Given the description of an element on the screen output the (x, y) to click on. 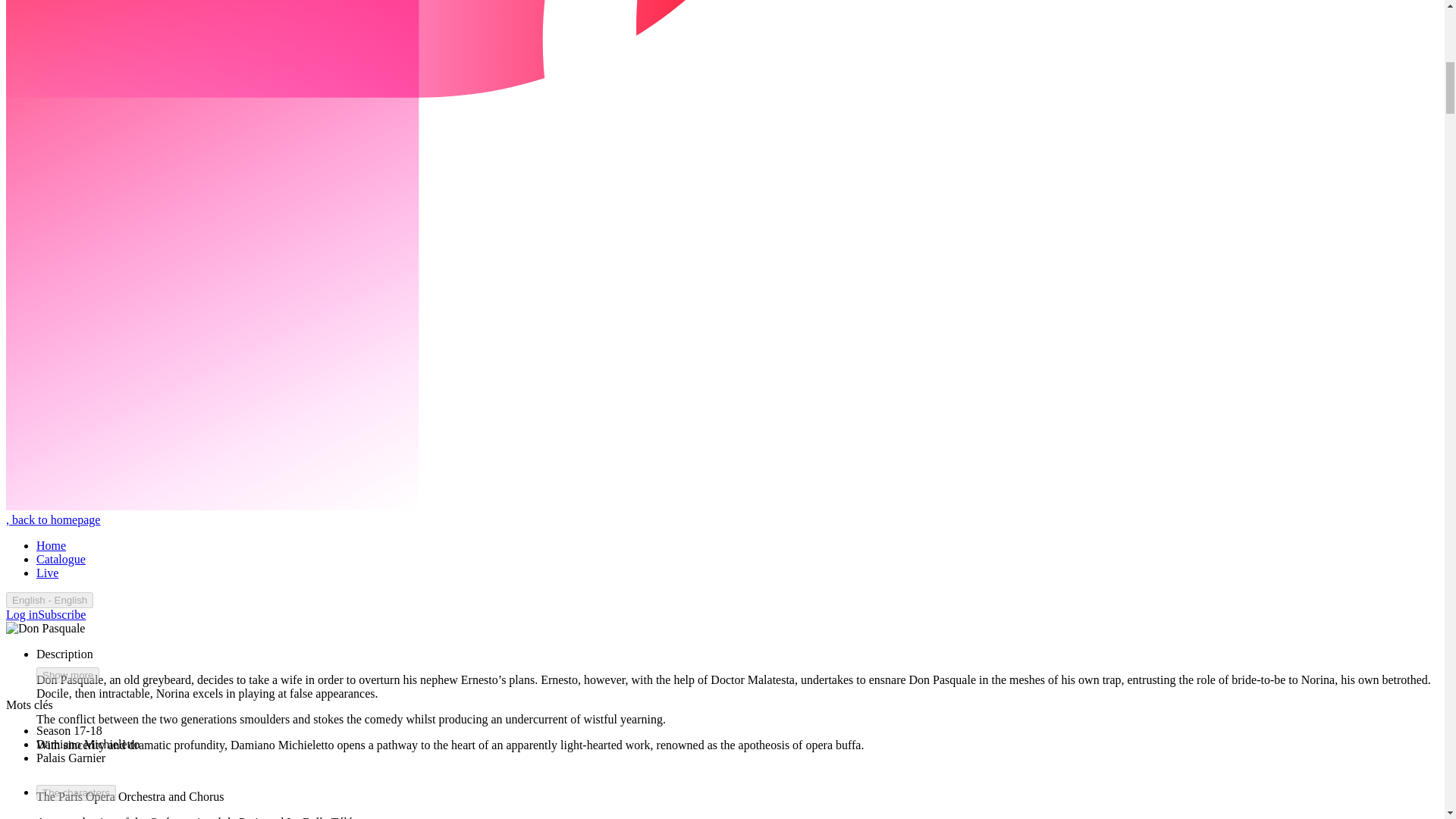
Live (47, 572)
English - English (49, 600)
Log in (21, 614)
The characters (76, 792)
Catalogue (60, 558)
Home (50, 545)
Show more (67, 675)
Subscribe (61, 614)
